Given the description of an element on the screen output the (x, y) to click on. 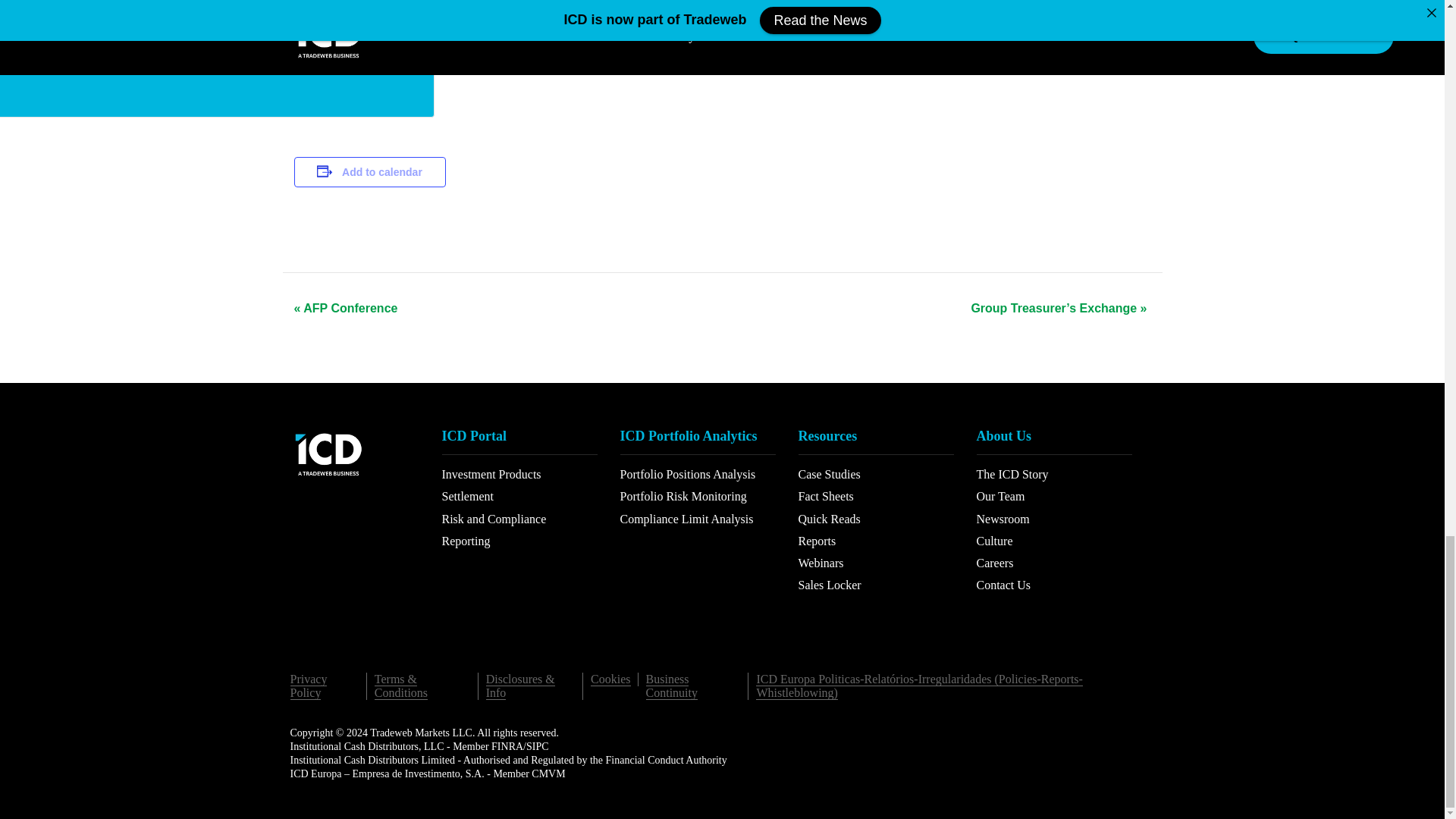
Investment Products (490, 474)
Add to calendar (382, 171)
ICD Portal (518, 441)
